Given the description of an element on the screen output the (x, y) to click on. 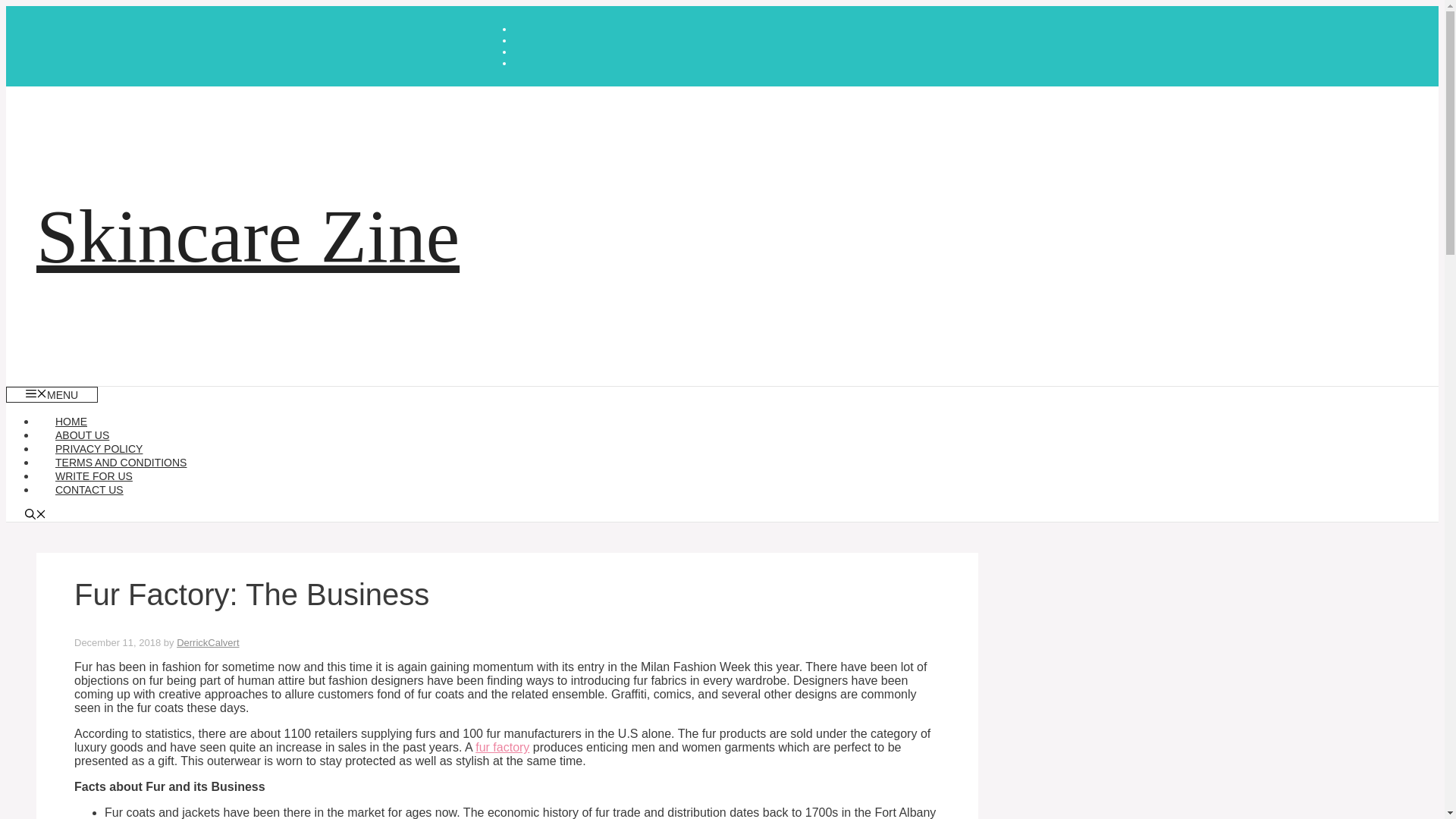
MENU (51, 394)
ABOUT US (82, 435)
TERMS AND CONDITIONS (120, 462)
View all posts by DerrickCalvert (207, 642)
WRITE FOR US (93, 476)
Skincare Zine (248, 236)
fur factory (502, 747)
HOME (71, 421)
CONTACT US (89, 490)
PRIVACY POLICY (98, 449)
DerrickCalvert (207, 642)
